Given the description of an element on the screen output the (x, y) to click on. 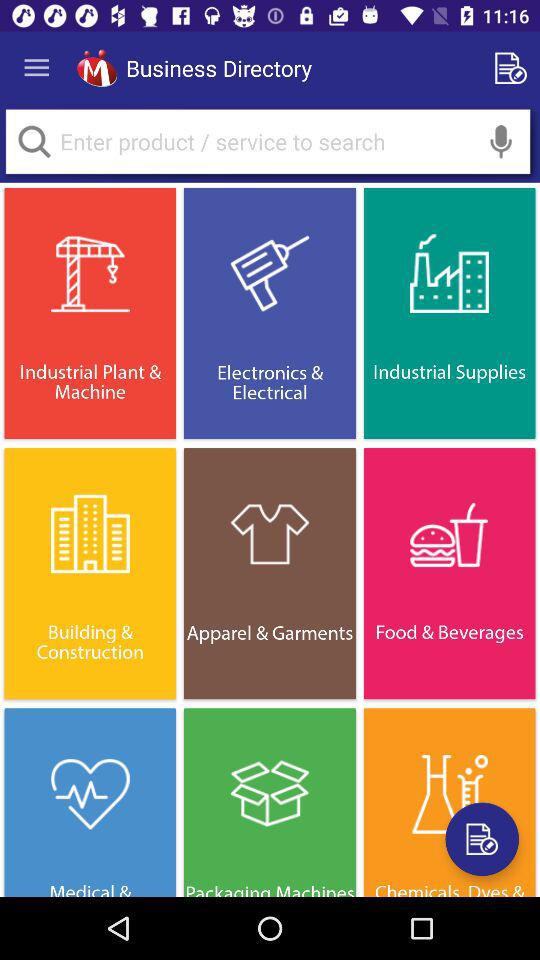
turn on microphone (501, 141)
